Given the description of an element on the screen output the (x, y) to click on. 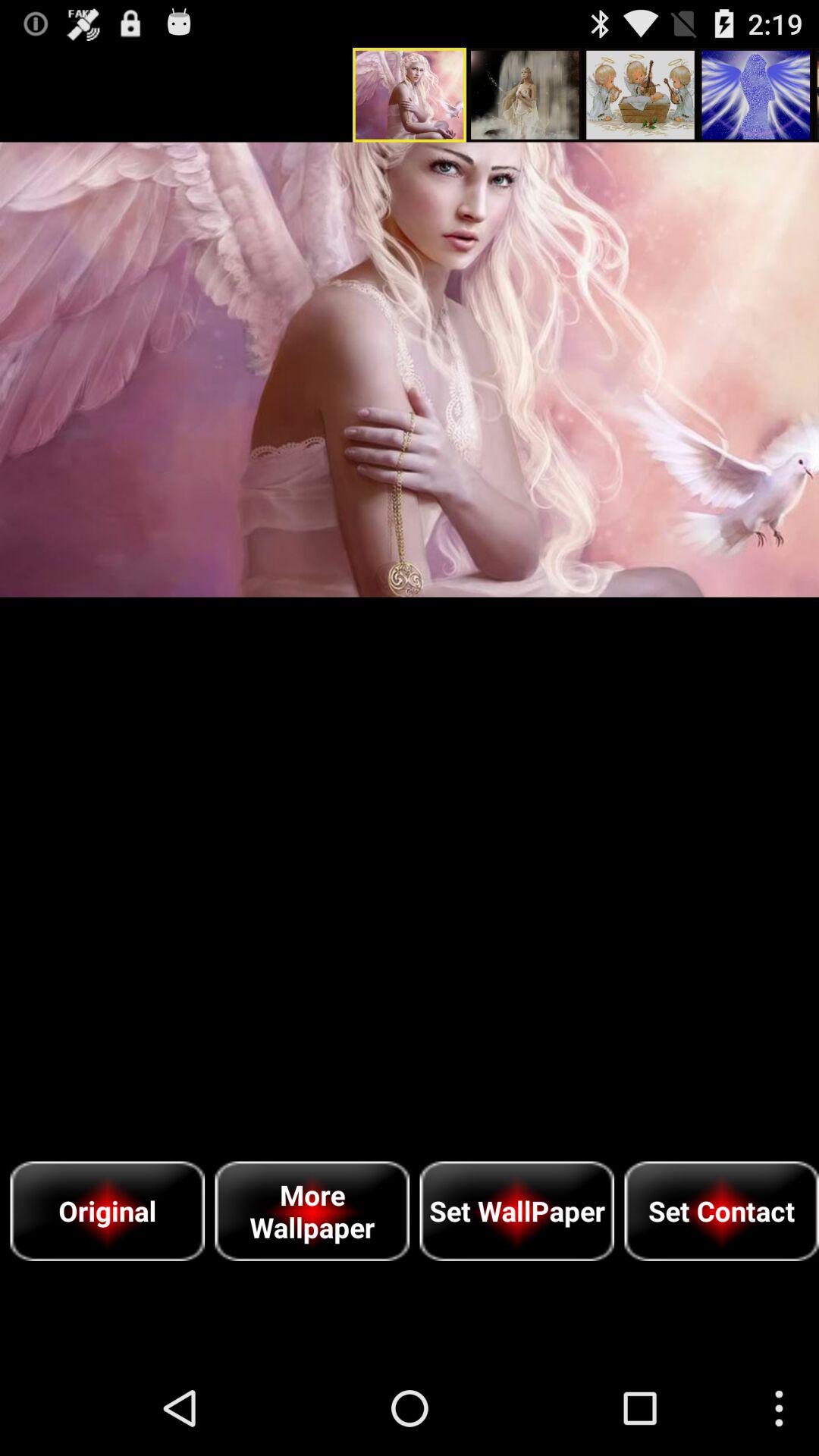
launch the item next to more wallpaper icon (516, 1210)
